Given the description of an element on the screen output the (x, y) to click on. 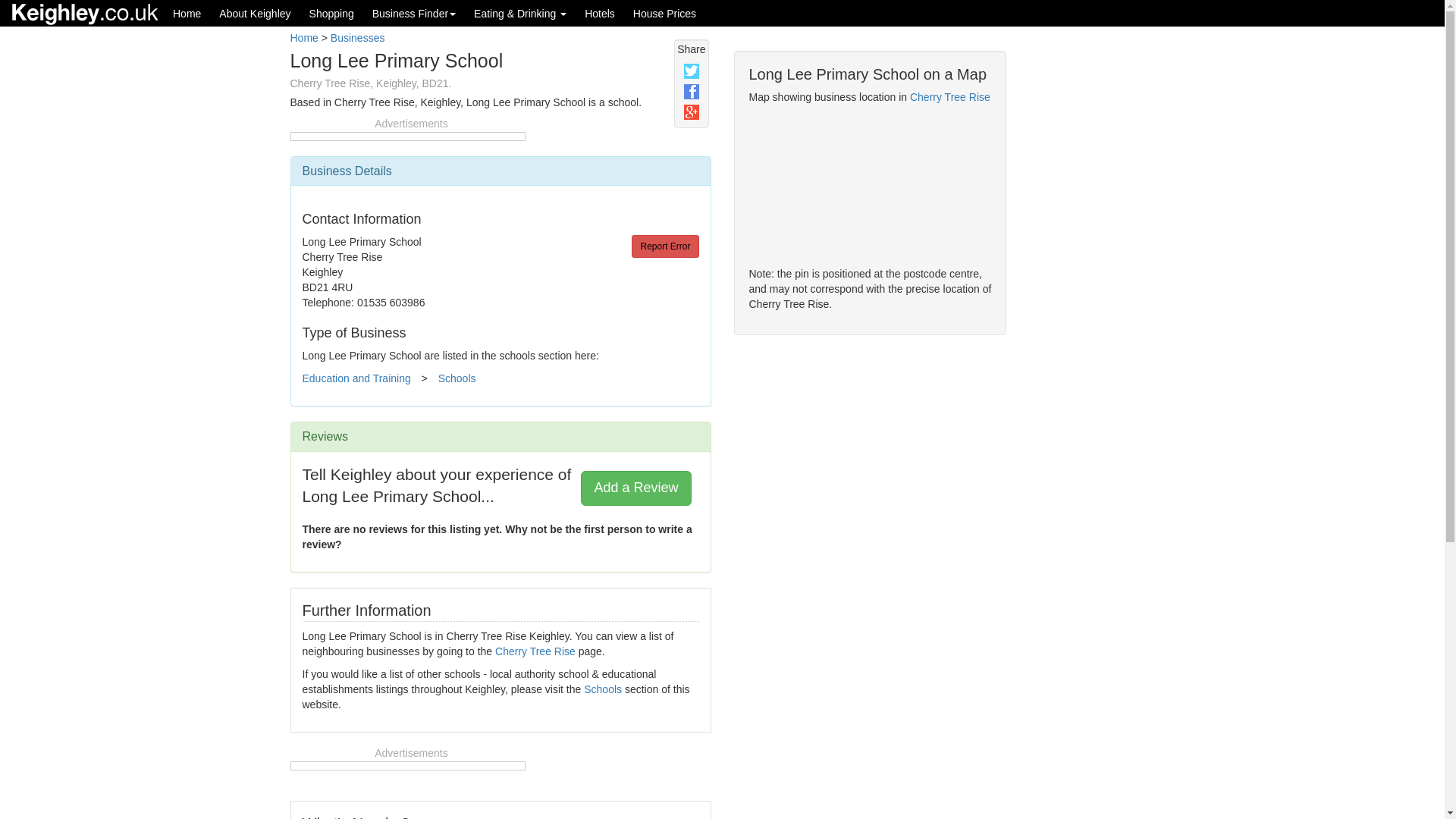
Add a Review (635, 488)
About Keighley (254, 12)
Cherry Tree Rise (535, 651)
Report Error (664, 246)
Home (303, 37)
Cherry Tree Rise (950, 96)
Home (186, 12)
Business Finder (413, 12)
Hotels (599, 12)
Report Error (664, 246)
Education and Training (355, 378)
House Prices (664, 12)
Schools (602, 689)
Shopping (330, 12)
Businesses (357, 37)
